Given the description of an element on the screen output the (x, y) to click on. 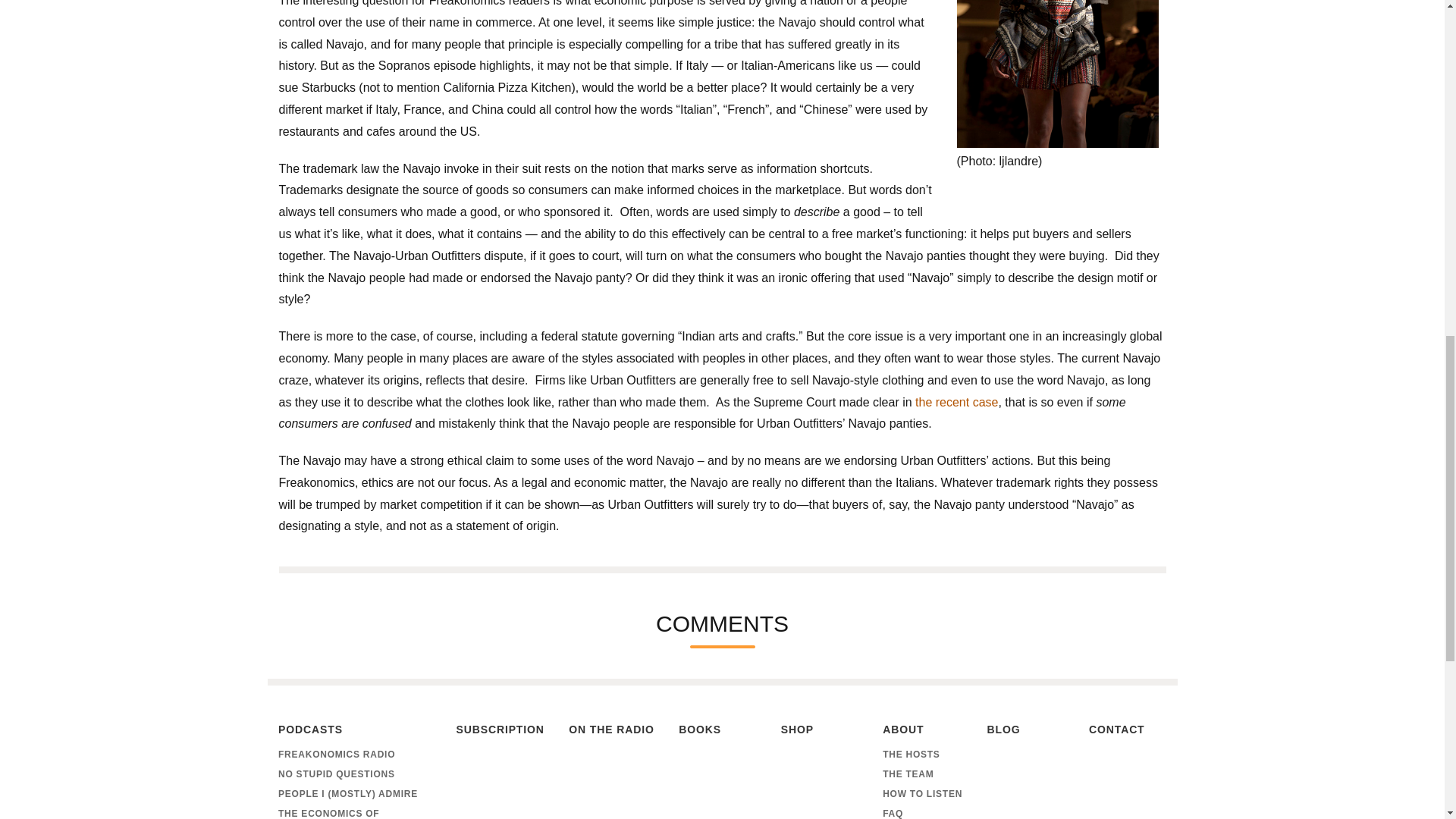
BOOKS (716, 731)
NO STUPID QUESTIONS (354, 773)
the recent case (956, 401)
navajoprints (1057, 74)
FREAKONOMICS RADIO (354, 754)
PODCASTS (354, 731)
THE ECONOMICS OF EVERYDAY THINGS (354, 811)
SUBSCRIPTION (499, 731)
ON THE RADIO (611, 731)
